Given the description of an element on the screen output the (x, y) to click on. 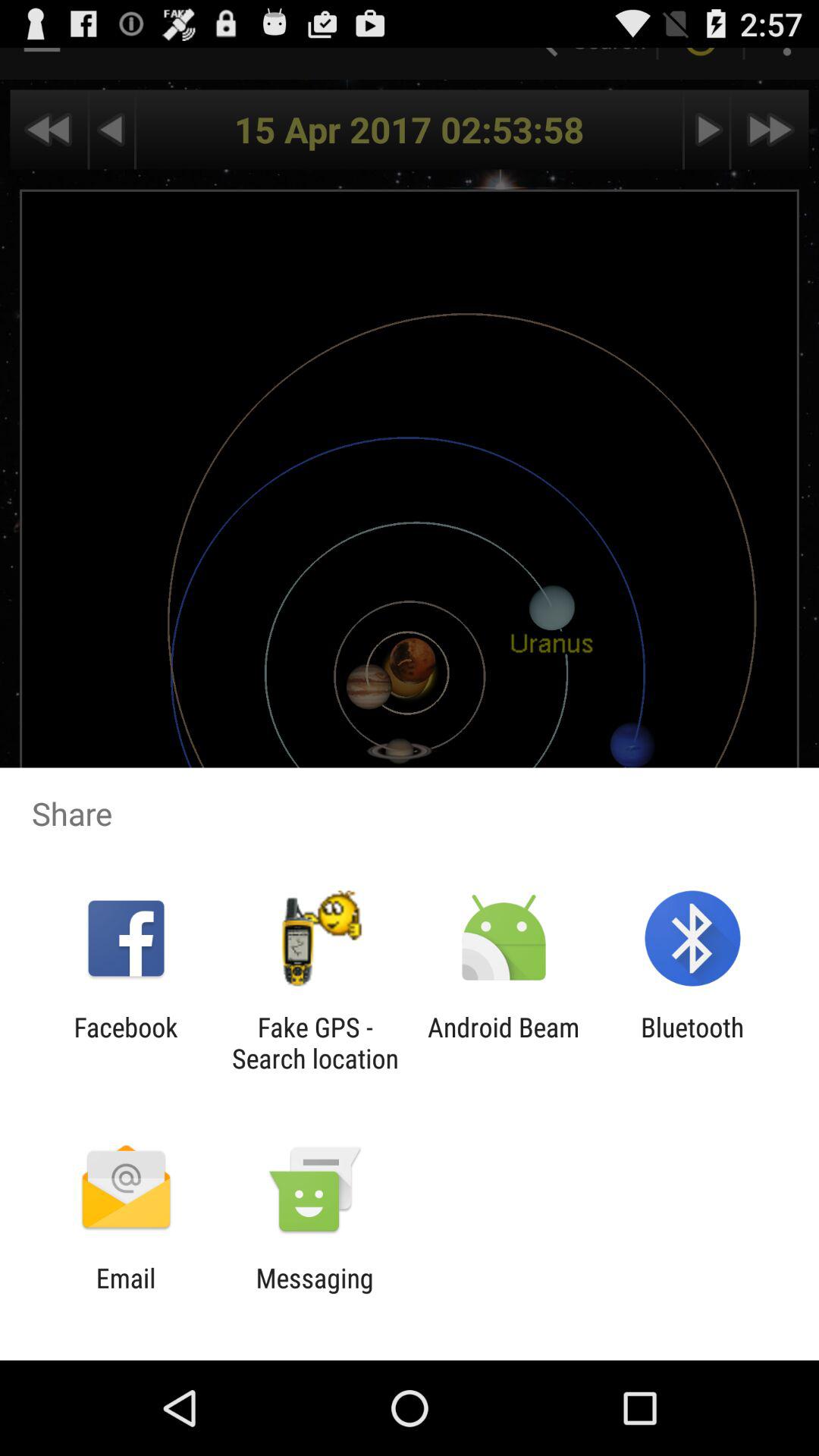
press the fake gps search item (314, 1042)
